Given the description of an element on the screen output the (x, y) to click on. 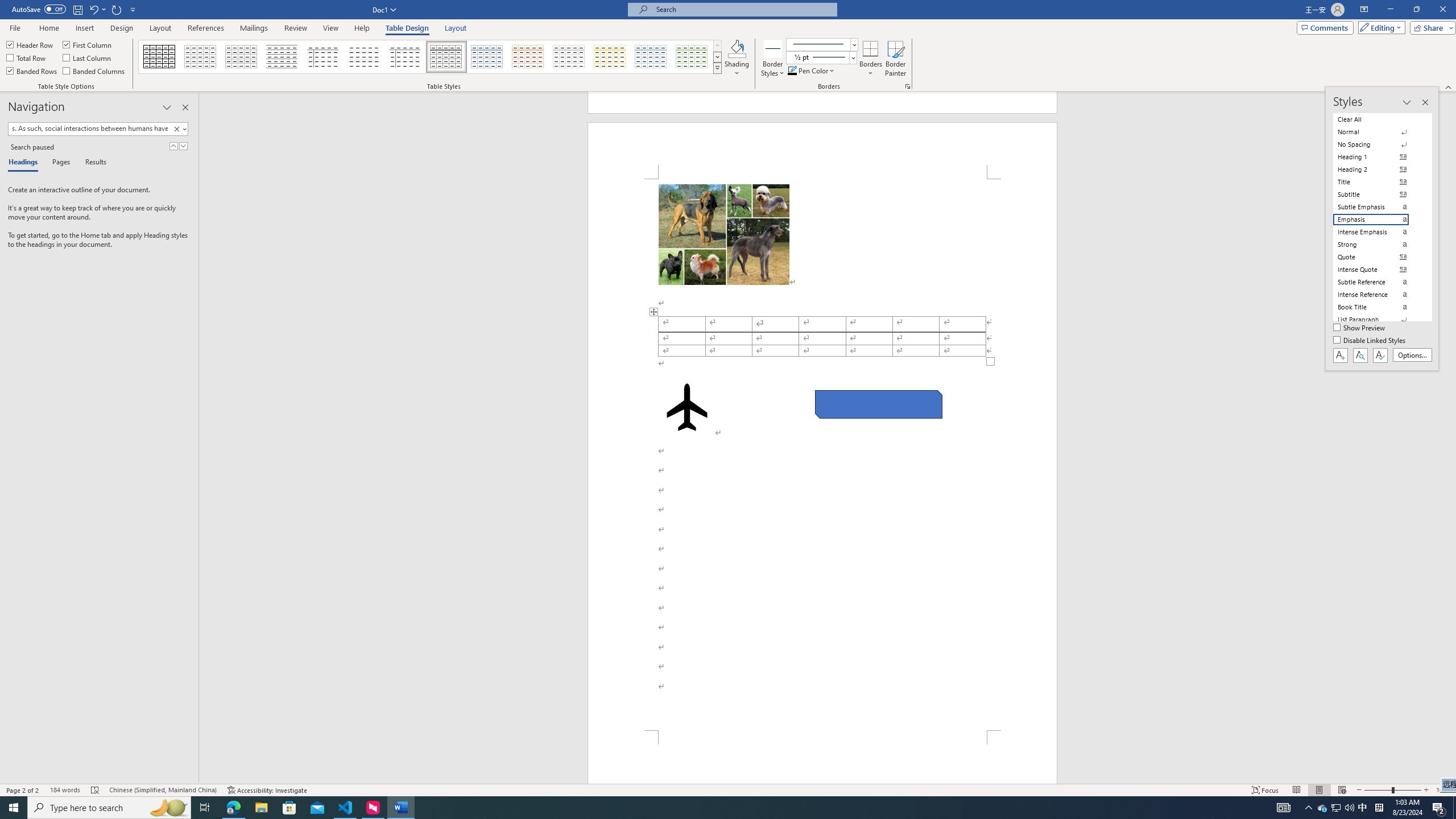
Zoom 104% (1443, 790)
Headings (25, 162)
Table Styles (717, 67)
Results (91, 162)
Language Chinese (Simplified, Mainland China) (162, 790)
Clear All (1377, 119)
Shading RGB(0, 0, 0) (737, 48)
Options... (1412, 354)
Banded Rows (32, 69)
Row up (717, 45)
